Given the description of an element on the screen output the (x, y) to click on. 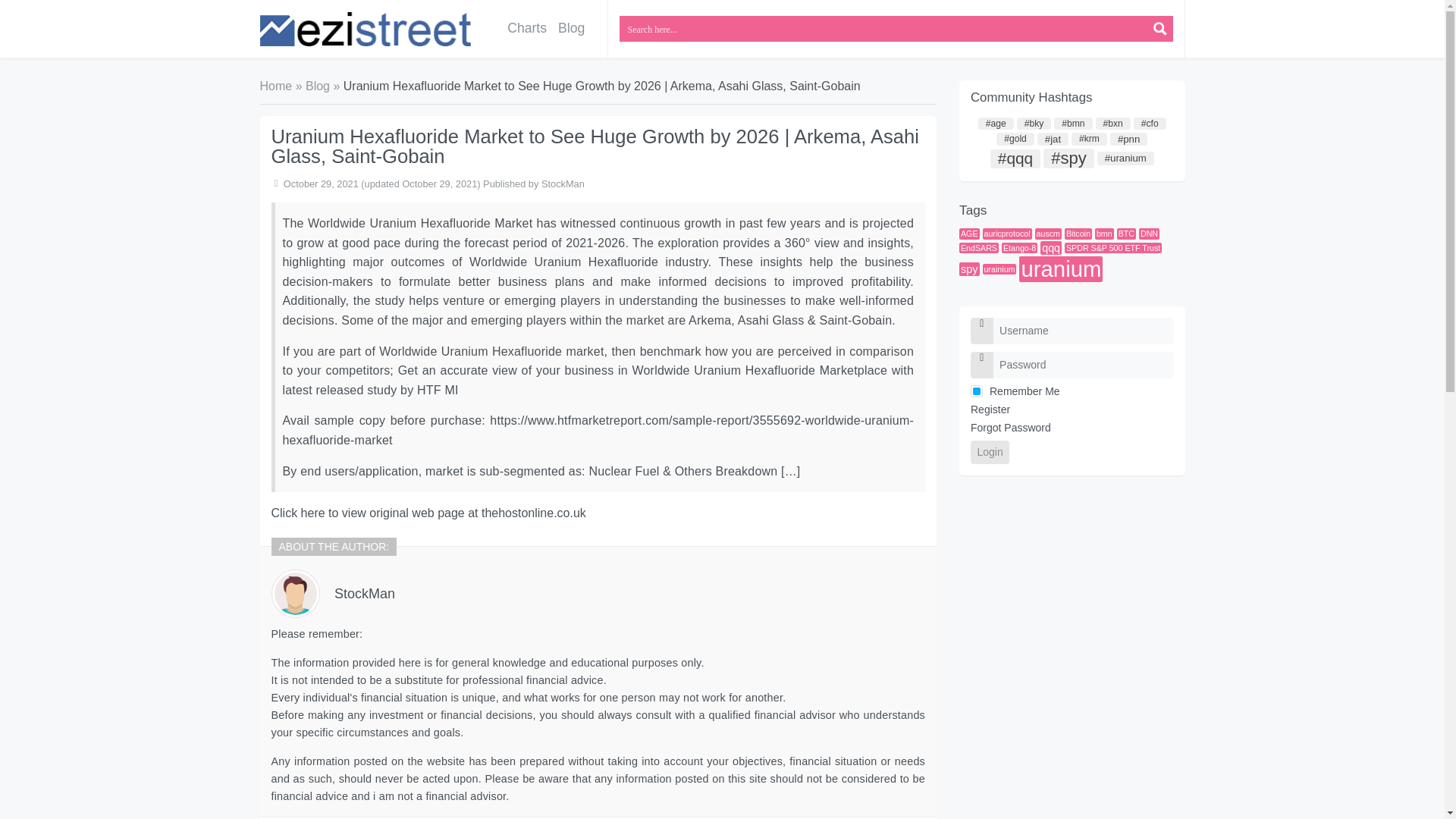
Charts (527, 29)
StockMan (364, 593)
Click here to view original web page at thehostonline.co.uk (428, 512)
Home (275, 85)
Blog (317, 85)
StockMan (563, 183)
